Given the description of an element on the screen output the (x, y) to click on. 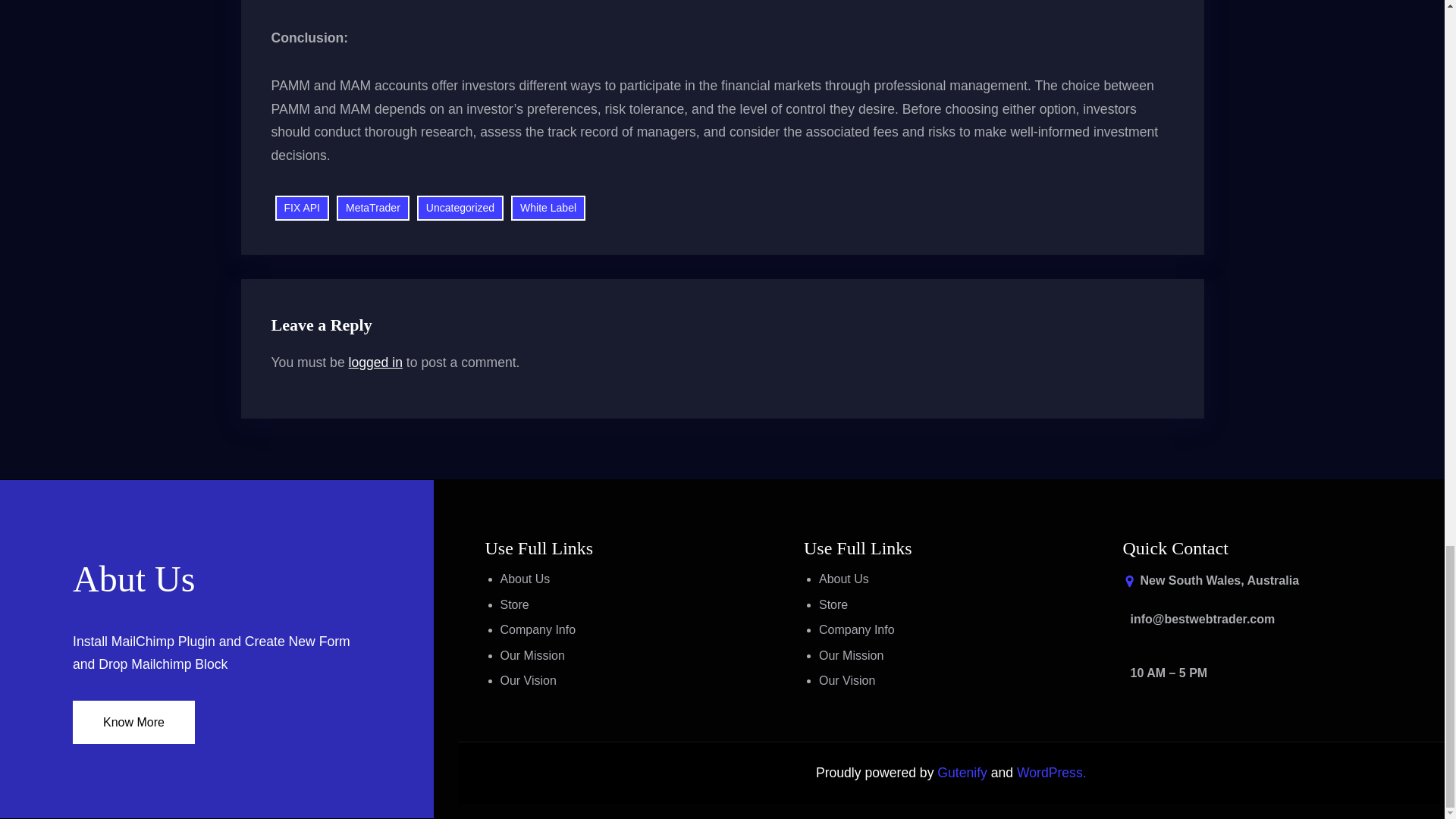
WordPress. (1051, 772)
MetaTrader (372, 207)
logged in (376, 362)
Know More (133, 722)
White Label (548, 207)
Gutenify (963, 772)
Uncategorized (459, 207)
FIX API (302, 207)
